Given the description of an element on the screen output the (x, y) to click on. 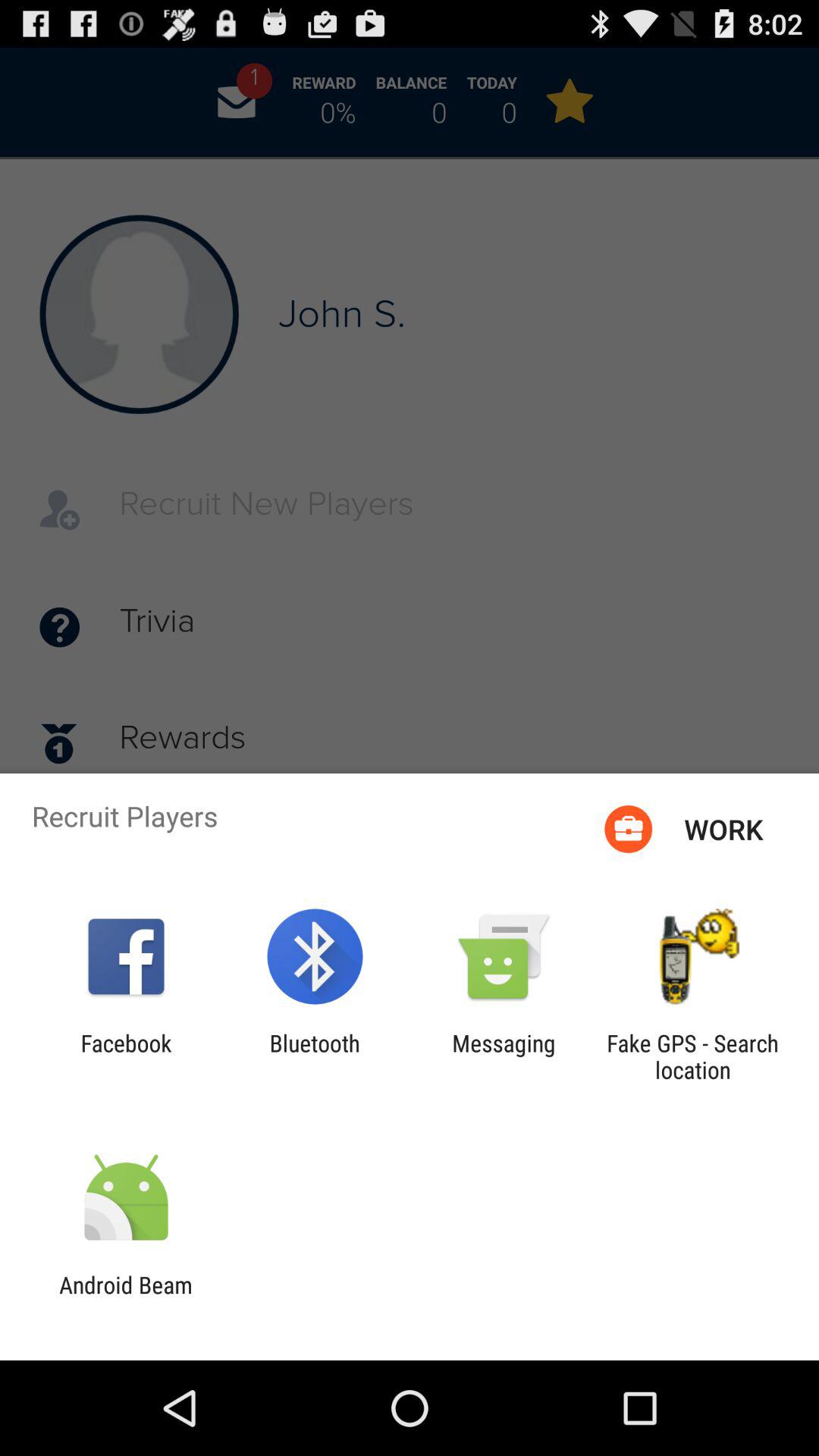
press the facebook app (125, 1056)
